Given the description of an element on the screen output the (x, y) to click on. 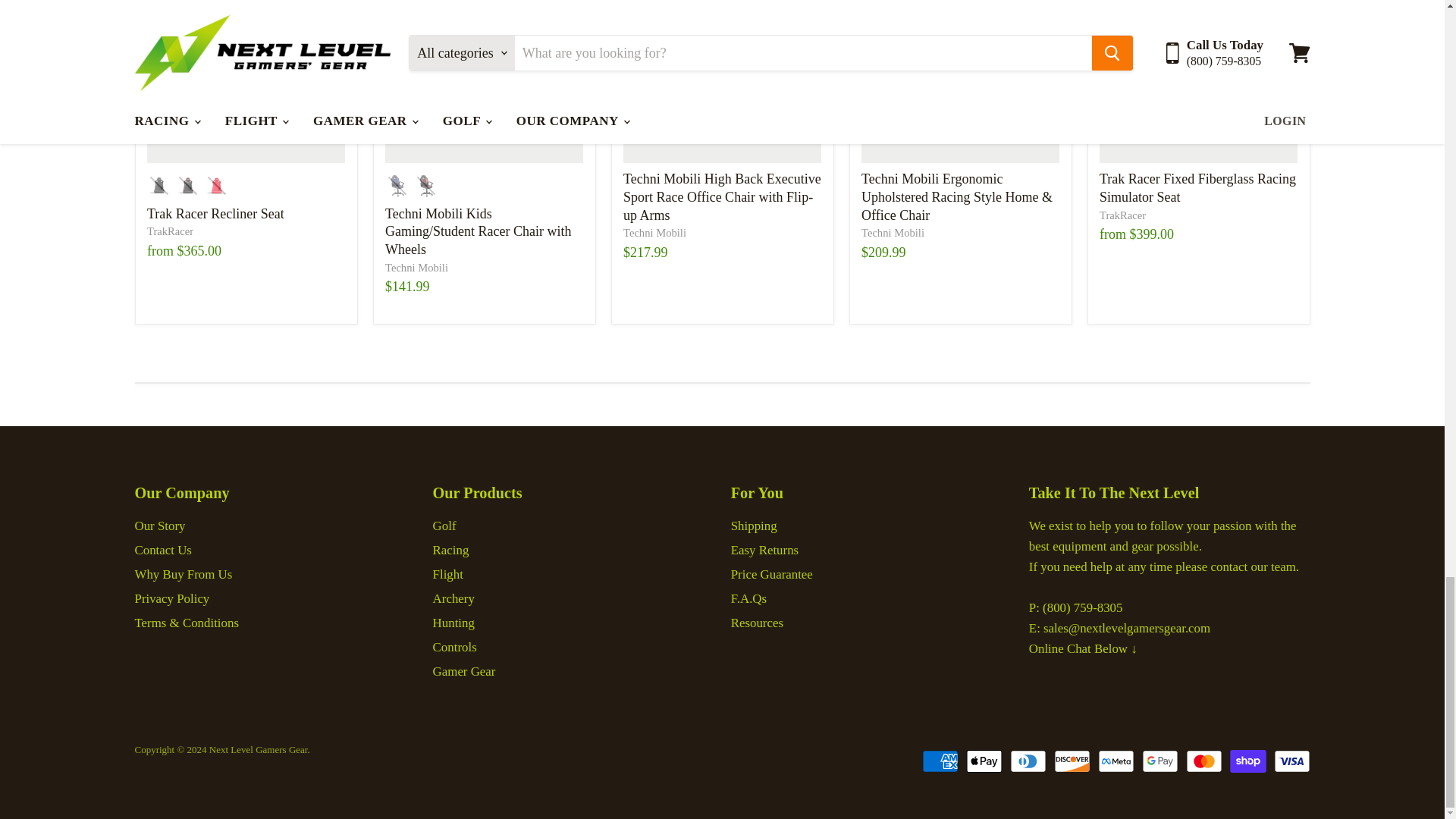
Techni Mobili (416, 267)
American Express (939, 761)
Discover (1072, 761)
Diners Club (1028, 761)
Techni Mobili (892, 232)
Techni Mobili (654, 232)
Apple Pay (984, 761)
TrakRacer (170, 231)
TrakRacer (1122, 215)
